Given the description of an element on the screen output the (x, y) to click on. 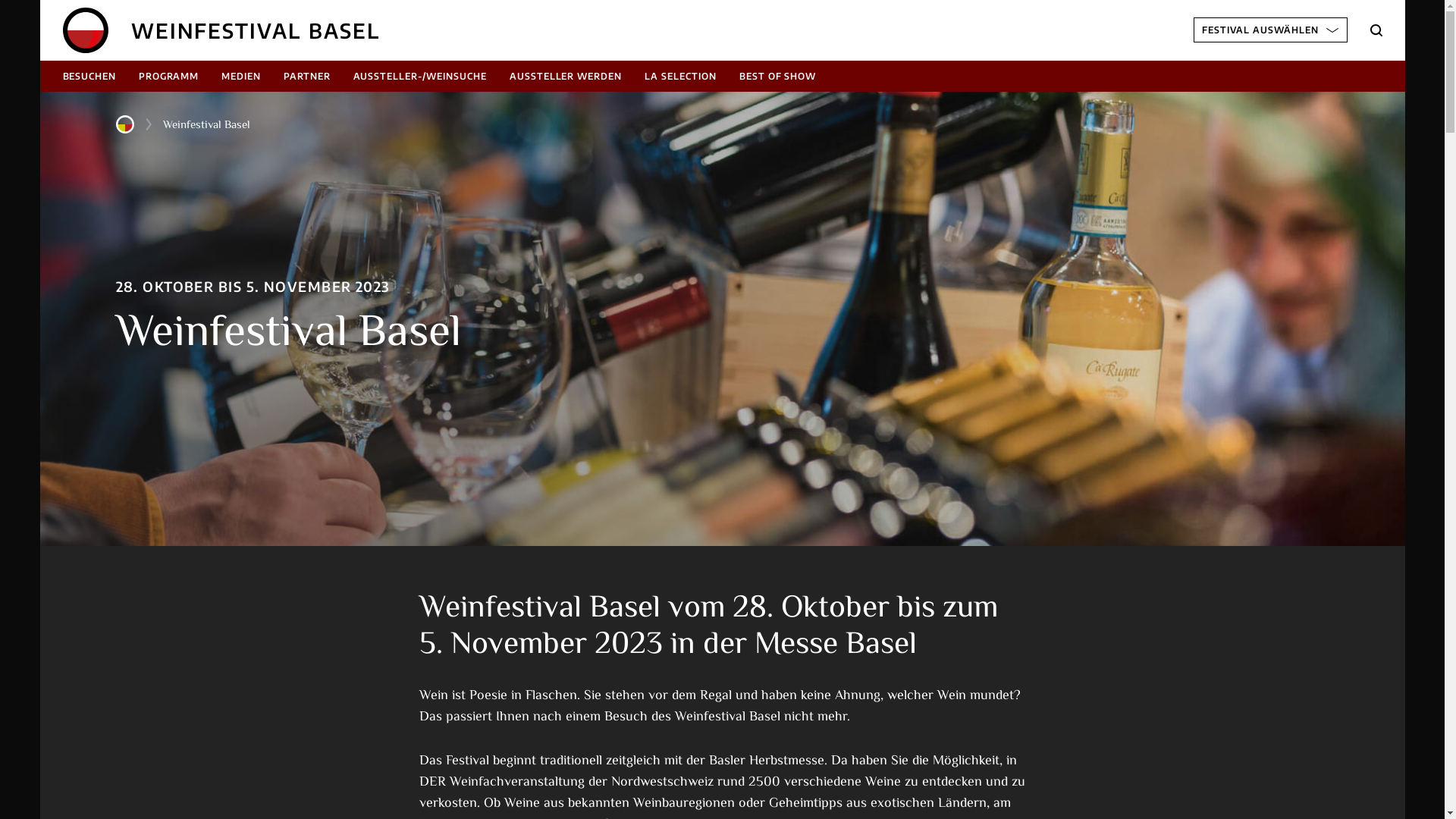
MEDIEN Element type: text (240, 75)
AUSSTELLER-/WEINSUCHE Element type: text (419, 75)
BEST OF SHOW Element type: text (777, 75)
PROGRAMM Element type: text (168, 75)
PARTNER Element type: text (306, 75)
AUSSTELLER WERDEN Element type: text (565, 75)
LA SELECTION Element type: text (680, 75)
BESUCHEN Element type: text (89, 75)
